Given the description of an element on the screen output the (x, y) to click on. 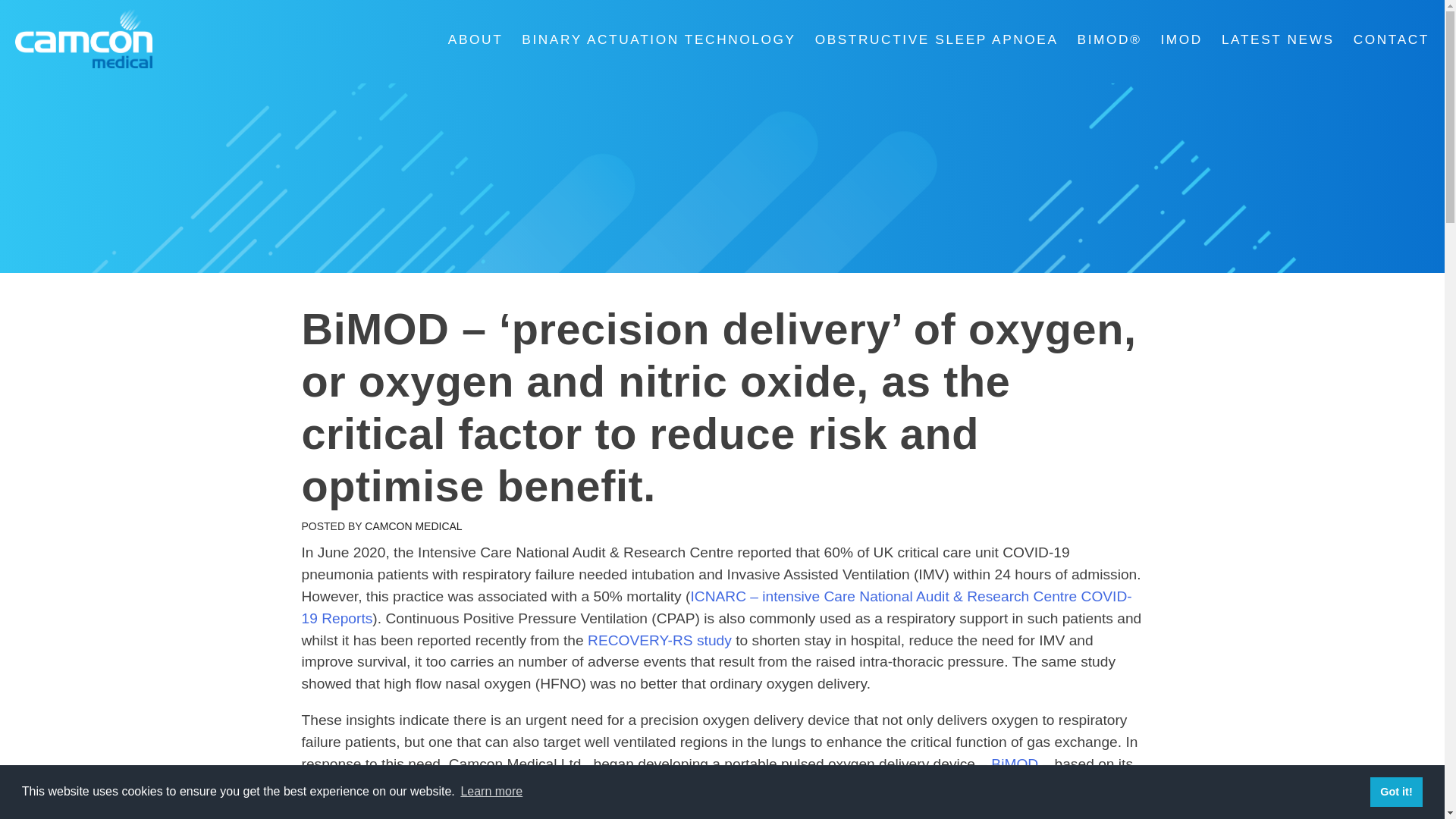
LATEST NEWS (1268, 39)
ABOUT (465, 39)
IMOD (1171, 39)
Camcon Medical (53, 93)
Learn more (491, 791)
Got it! (1396, 791)
OBSTRUCTIVE SLEEP APNOEA (927, 39)
BiMOD (1014, 763)
CONTACT (1382, 39)
RECOVERY-RS study (661, 640)
CAMCON MEDICAL (413, 526)
BINARY ACTUATION TECHNOLOGY (648, 39)
